Given the description of an element on the screen output the (x, y) to click on. 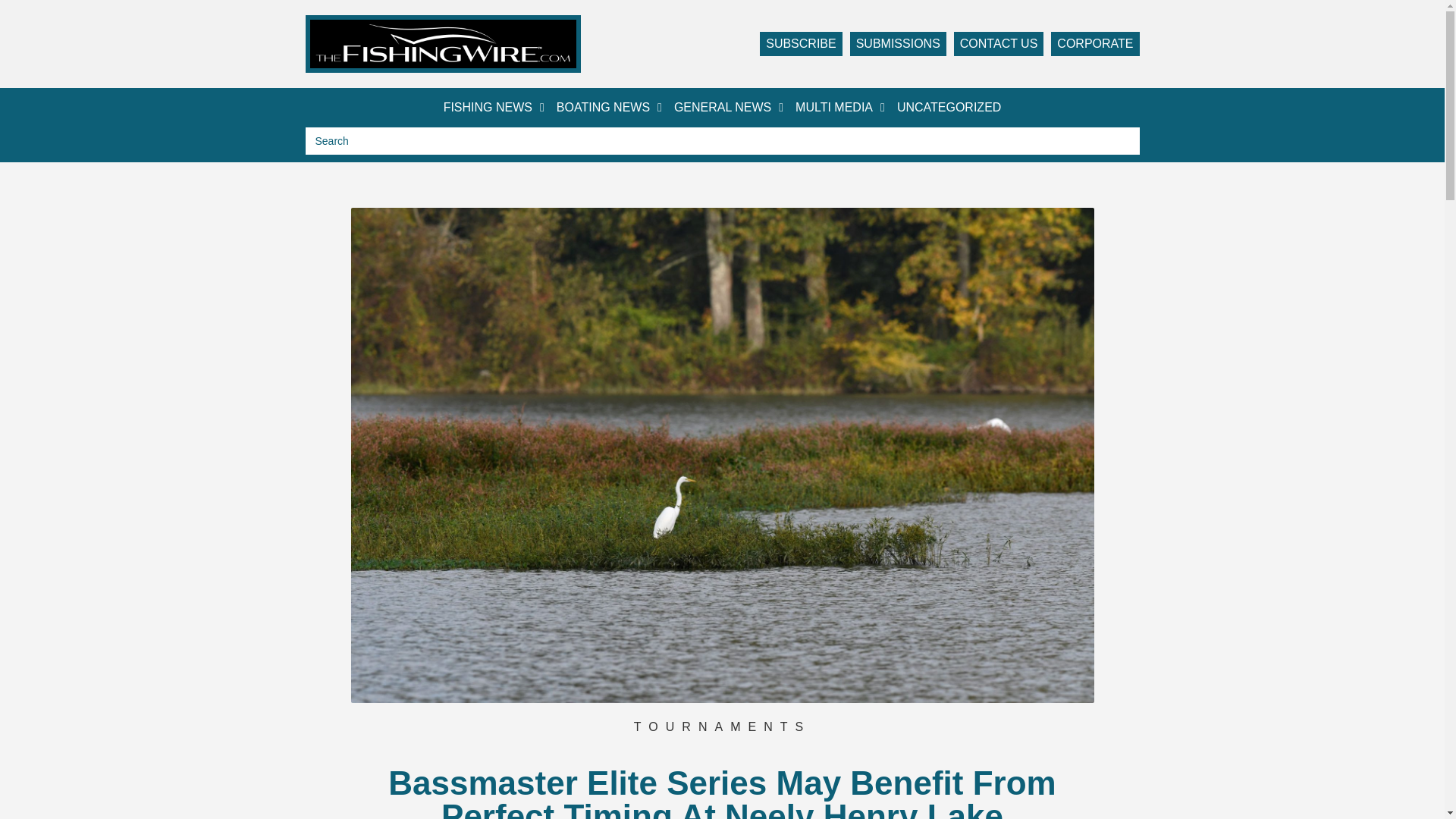
FISHING NEWS (494, 107)
BOATING NEWS (609, 107)
SUBSCRIBE (800, 43)
GENERAL NEWS (728, 107)
UNCATEGORIZED (949, 107)
MULTI MEDIA (840, 107)
SUBMISSIONS (898, 43)
CONTACT US (998, 43)
CORPORATE (1094, 43)
